Given the description of an element on the screen output the (x, y) to click on. 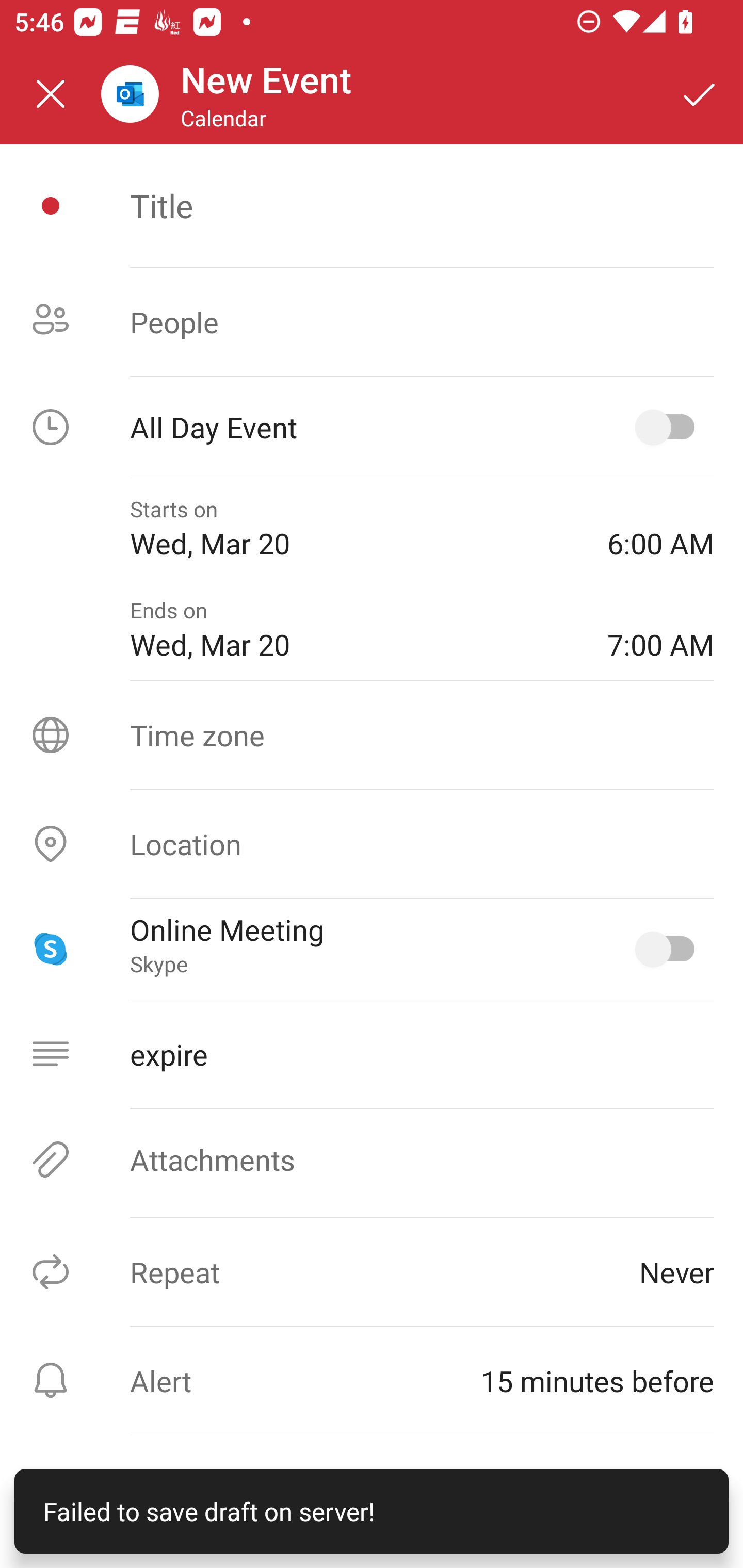
Close (50, 93)
Save (699, 93)
Title (422, 205)
Event icon picker (50, 206)
People (371, 322)
All Day Event (371, 427)
Starts on Wed, Mar 20 (353, 528)
6:00 AM (660, 528)
Ends on Wed, Mar 20 (353, 629)
7:00 AM (660, 629)
Time zone (371, 734)
Location (371, 844)
Online Meeting, Skype selected (669, 949)
expire    Description, expire    (371, 1054)
Attachments (371, 1159)
Repeat Never (371, 1272)
Alert ⁨15 minutes before (371, 1380)
Show as Busy (371, 1489)
